Given the description of an element on the screen output the (x, y) to click on. 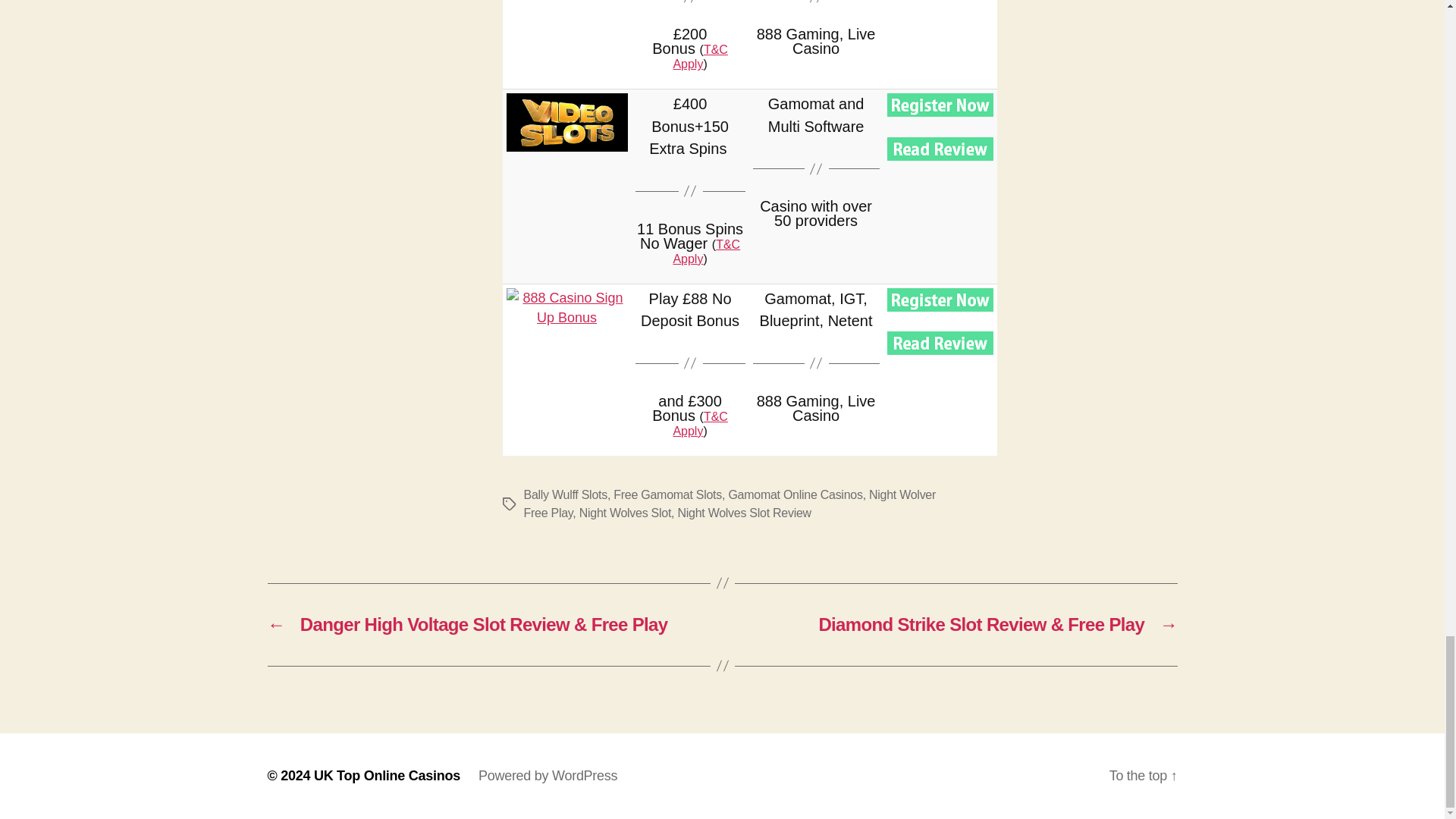
Videoslots Casino Review (939, 148)
Go to 888 Casino (566, 318)
888 Casino Review (939, 342)
Go to Videoslots Casino (939, 105)
Go to Videoslots Casino (566, 122)
Go to 888 Casino (939, 300)
